Given the description of an element on the screen output the (x, y) to click on. 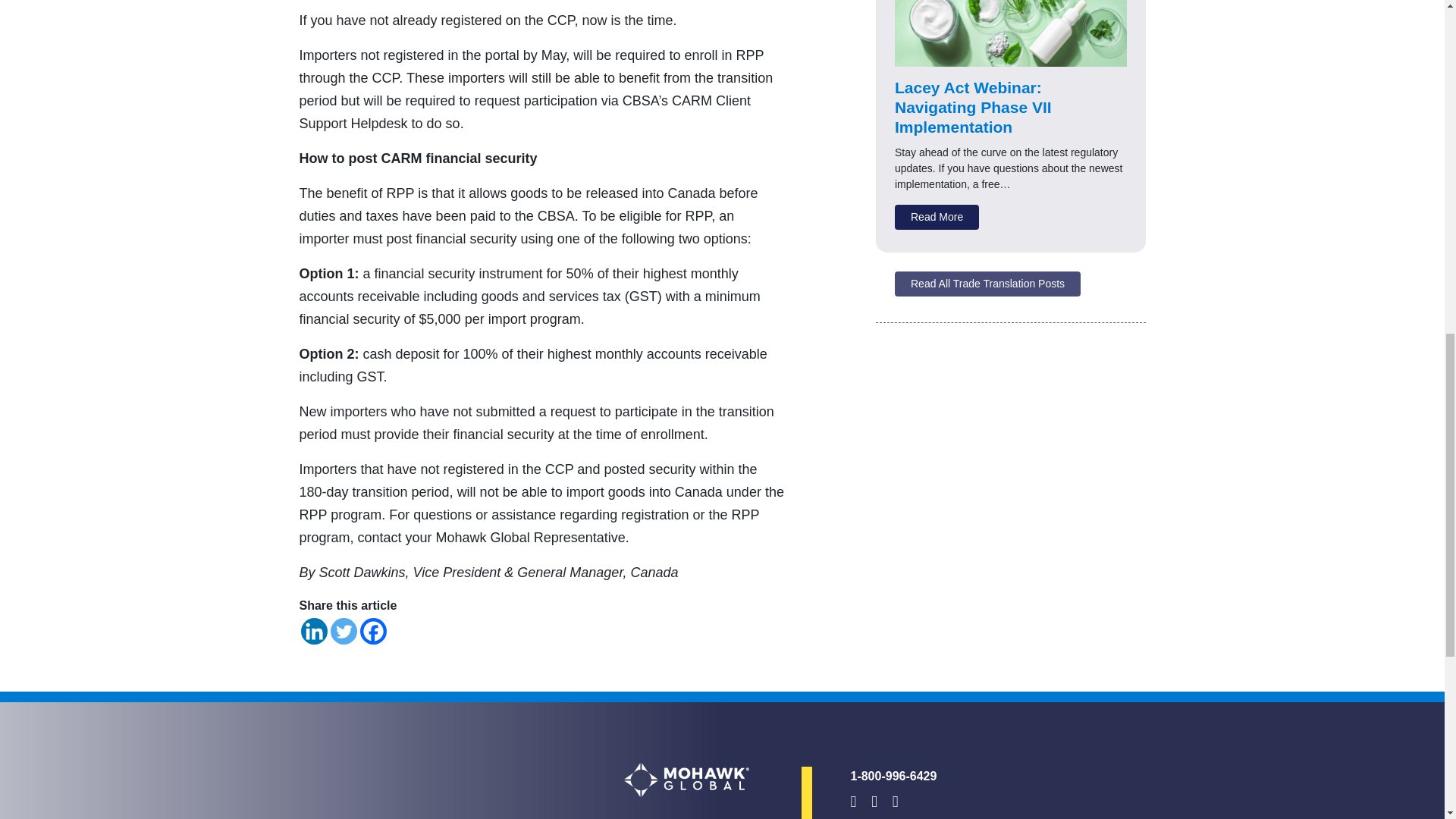
Mohawk Global (686, 779)
Facebook (372, 631)
Linkedin (312, 631)
Twitter (343, 631)
